Given the description of an element on the screen output the (x, y) to click on. 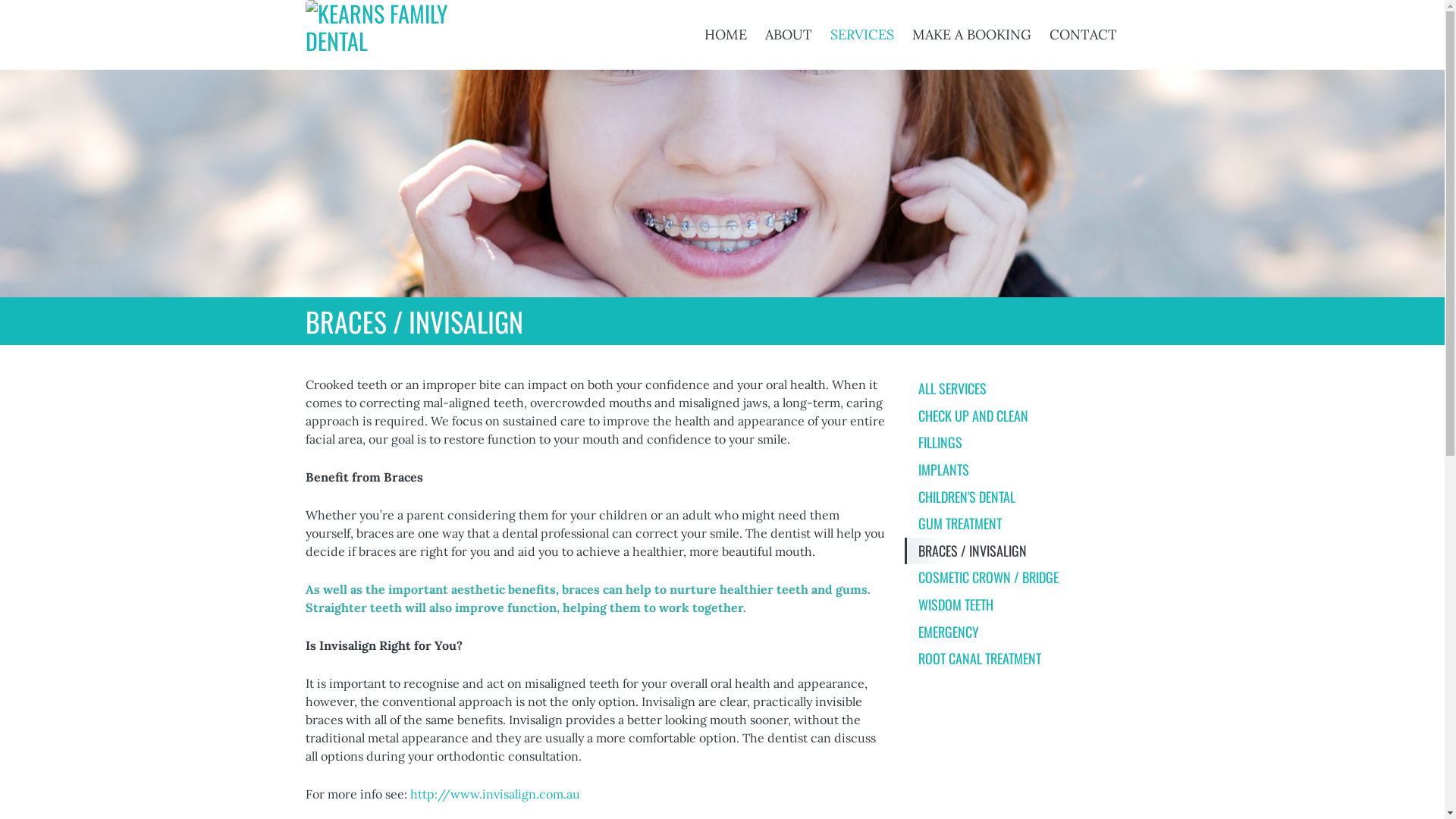
WISDOM TEETH Element type: text (1021, 604)
ABOUT Element type: text (787, 34)
FILLINGS Element type: text (1021, 442)
ROOT CANAL TREATMENT Element type: text (1021, 658)
MAKE A BOOKING Element type: text (970, 34)
BRACES / INVISALIGN Element type: text (1021, 550)
CONTACT Element type: text (1083, 34)
http://www.invisalign.com.au Element type: text (494, 793)
COSMETIC CROWN / BRIDGE Element type: text (1021, 577)
CHECK UP AND CLEAN Element type: text (1021, 415)
HOME Element type: text (724, 34)
EMERGENCY Element type: text (1021, 632)
CHILDREN'S DENTAL Element type: text (1021, 497)
ALL SERVICES Element type: text (1021, 388)
SERVICES Element type: text (861, 34)
GUM TREATMENT Element type: text (1021, 523)
IMPLANTS  Element type: text (1021, 469)
